Given the description of an element on the screen output the (x, y) to click on. 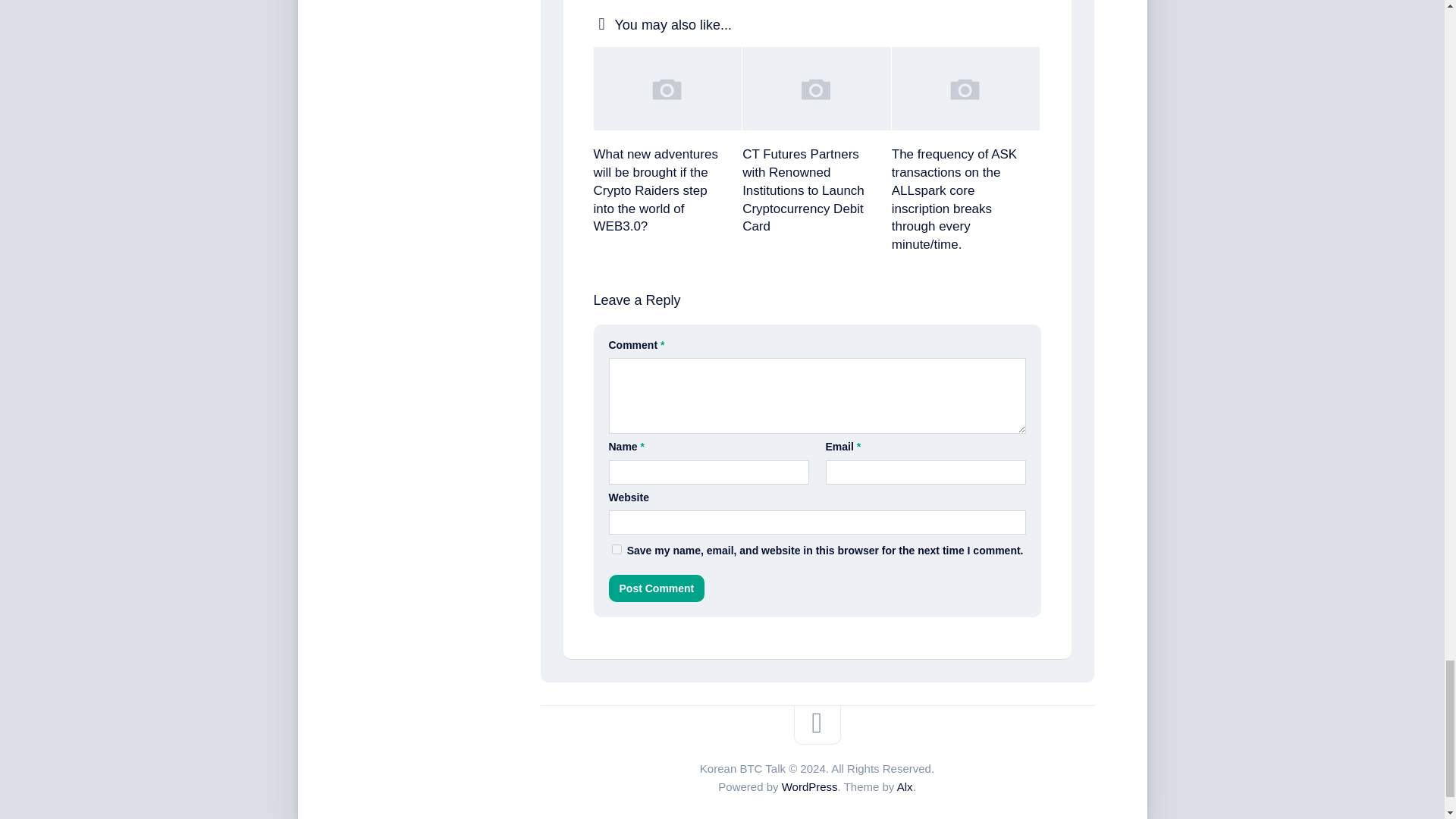
Alx (904, 786)
yes (616, 549)
Post Comment (656, 587)
WordPress (809, 786)
Post Comment (656, 587)
